Given the description of an element on the screen output the (x, y) to click on. 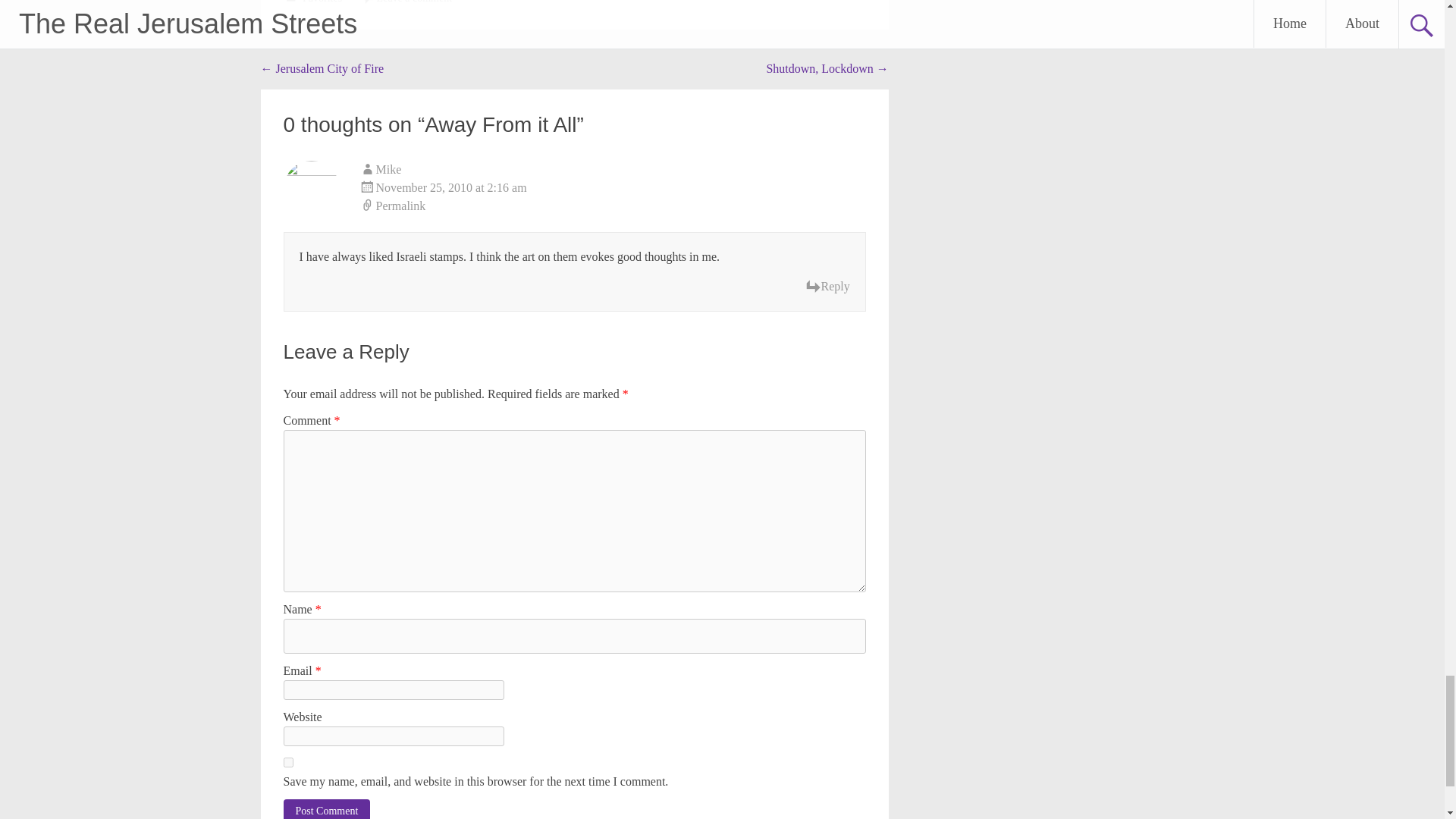
Mike (388, 169)
Post Comment (327, 809)
Permalink (612, 206)
Leave a comment (414, 2)
yes (288, 762)
Favorites (322, 2)
Reply (827, 286)
Post Comment (327, 809)
